Given the description of an element on the screen output the (x, y) to click on. 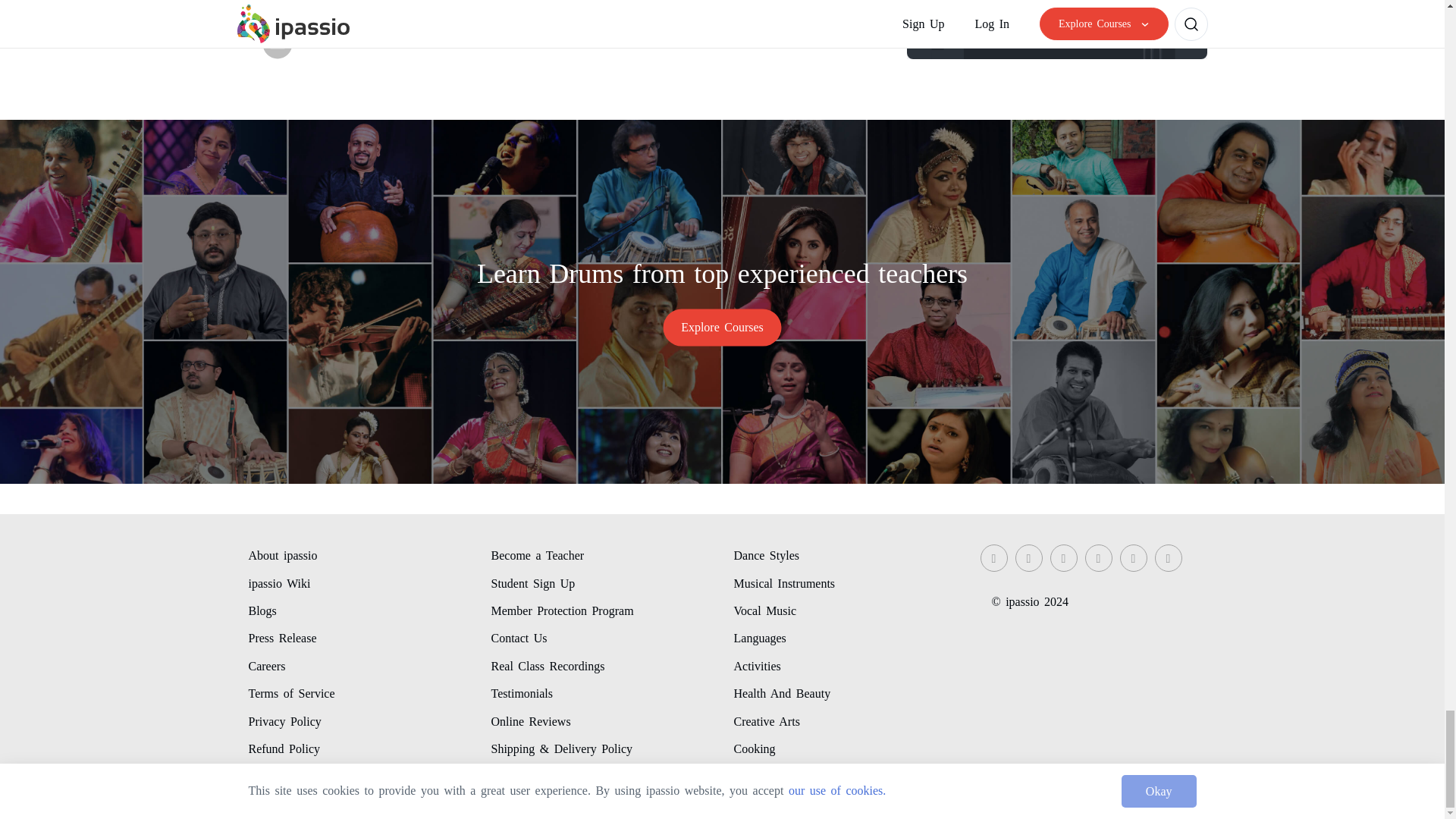
Cookies Policy (286, 775)
Real Class Recordings (548, 668)
Member Protection Program (562, 613)
Become a Teacher (538, 557)
About ipassio (282, 557)
Terms of Service (291, 696)
Testimonials (522, 696)
Blogs (262, 613)
Contact Us (519, 640)
Careers (266, 668)
Privacy Policy (284, 723)
Explore Courses (721, 326)
Refund Policy (284, 750)
Press Release (282, 640)
ipassio Wiki (279, 585)
